Given the description of an element on the screen output the (x, y) to click on. 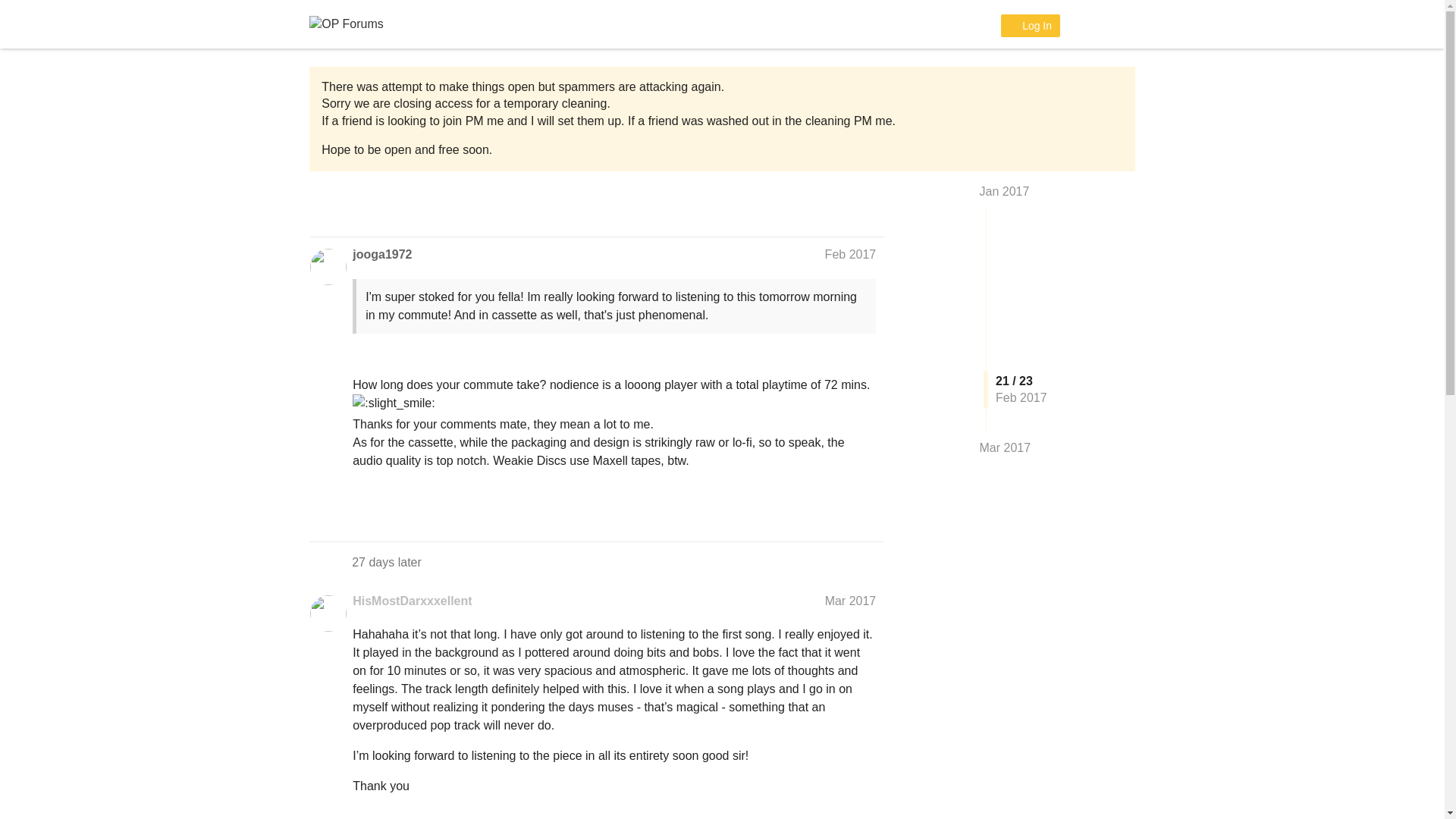
copy a link to this post to clipboard (869, 513)
Jan 2017 (1004, 191)
Mar 2017 (850, 600)
Search (1082, 23)
Feb 2017 (850, 254)
HisMostDarxxxellent (411, 600)
jooga1972 (382, 254)
Post date (850, 600)
Post date (850, 254)
Dismiss this banner (1101, 88)
